Given the description of an element on the screen output the (x, y) to click on. 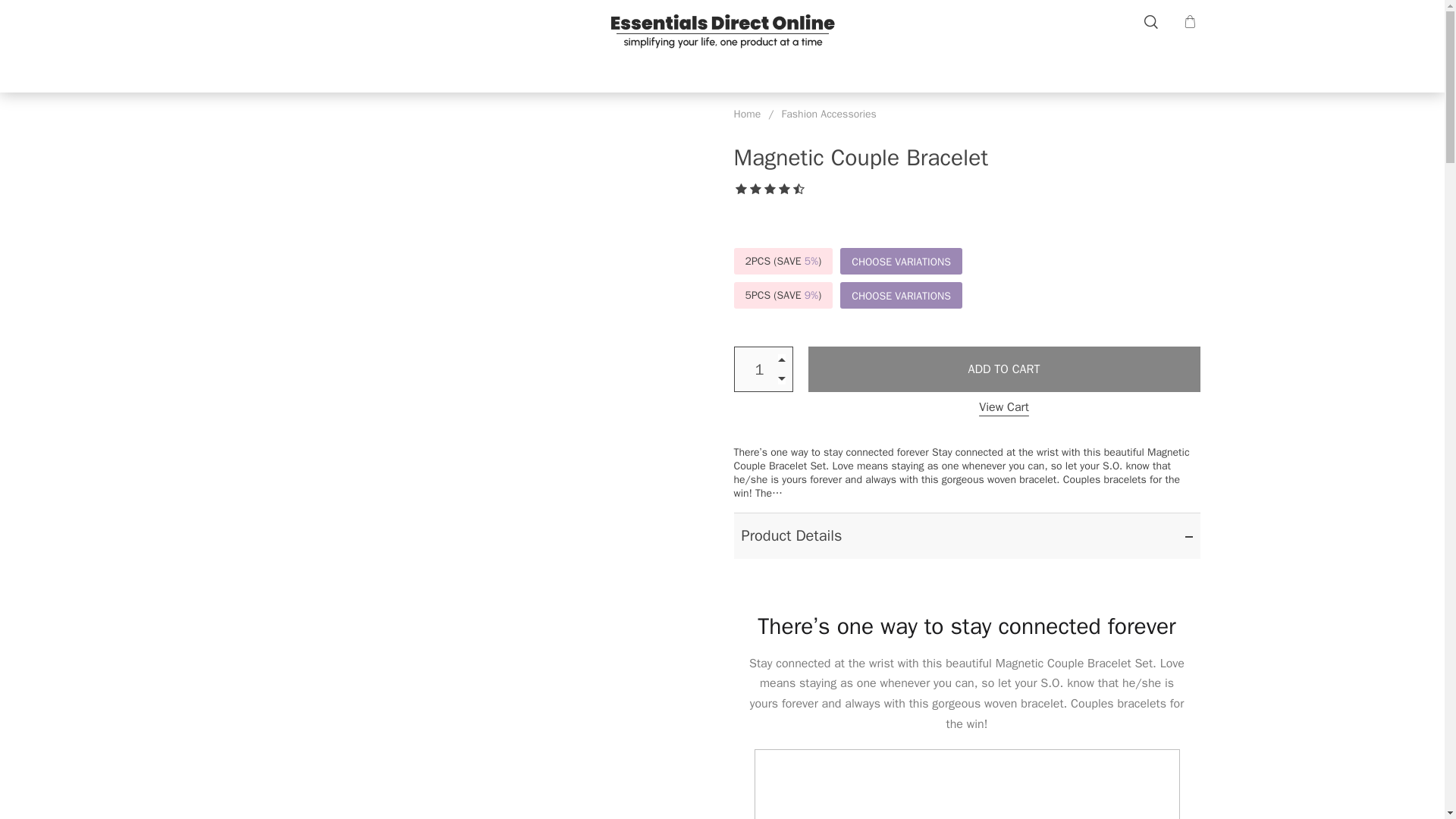
Fashion Accessories (828, 113)
Home (747, 114)
ADD TO CART (1003, 369)
1 (966, 784)
1 (763, 369)
